Given the description of an element on the screen output the (x, y) to click on. 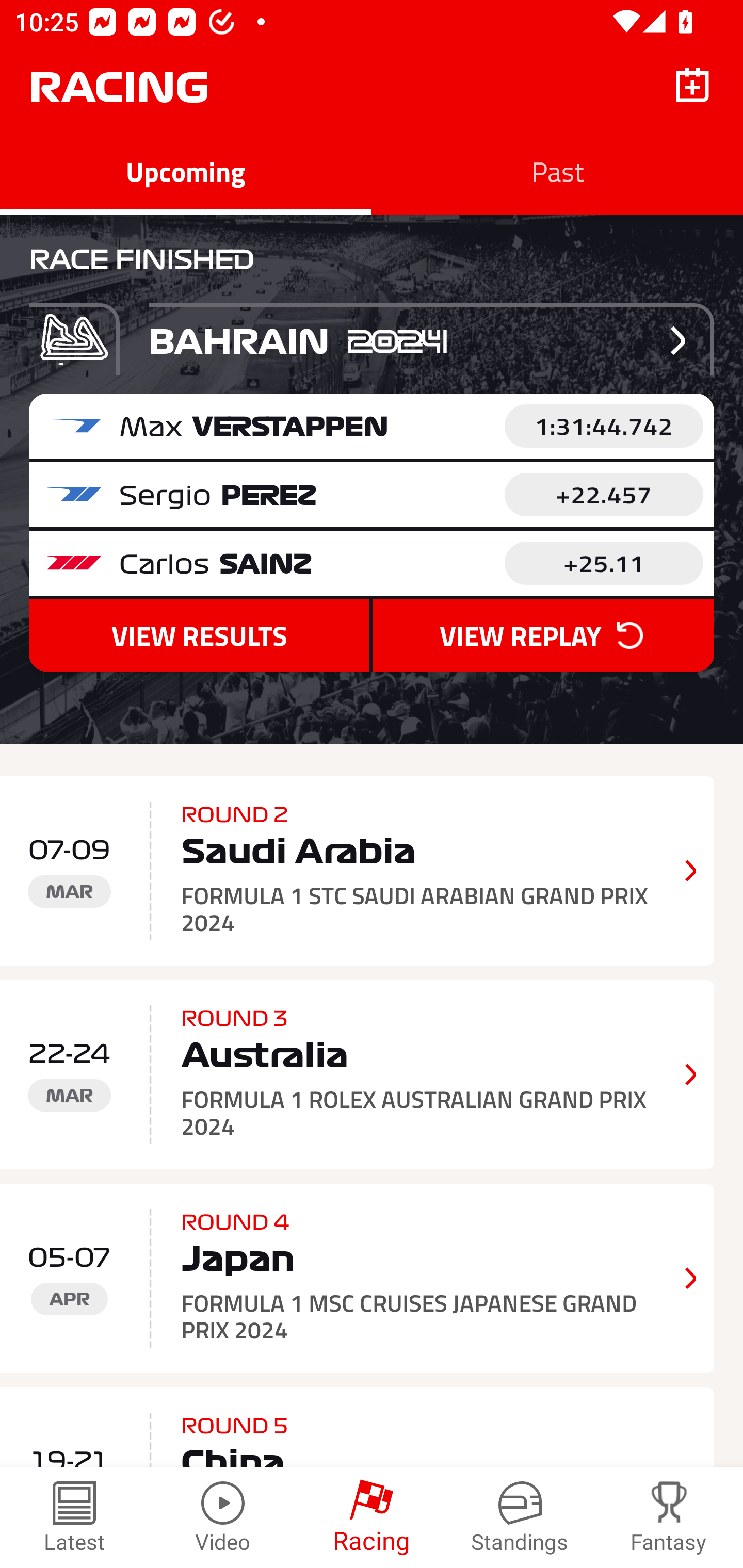
Past (557, 171)
VIEW RESULTS (198, 634)
VIEW REPLAY (543, 634)
Latest (74, 1517)
Video (222, 1517)
Standings (519, 1517)
Fantasy (668, 1517)
